Given the description of an element on the screen output the (x, y) to click on. 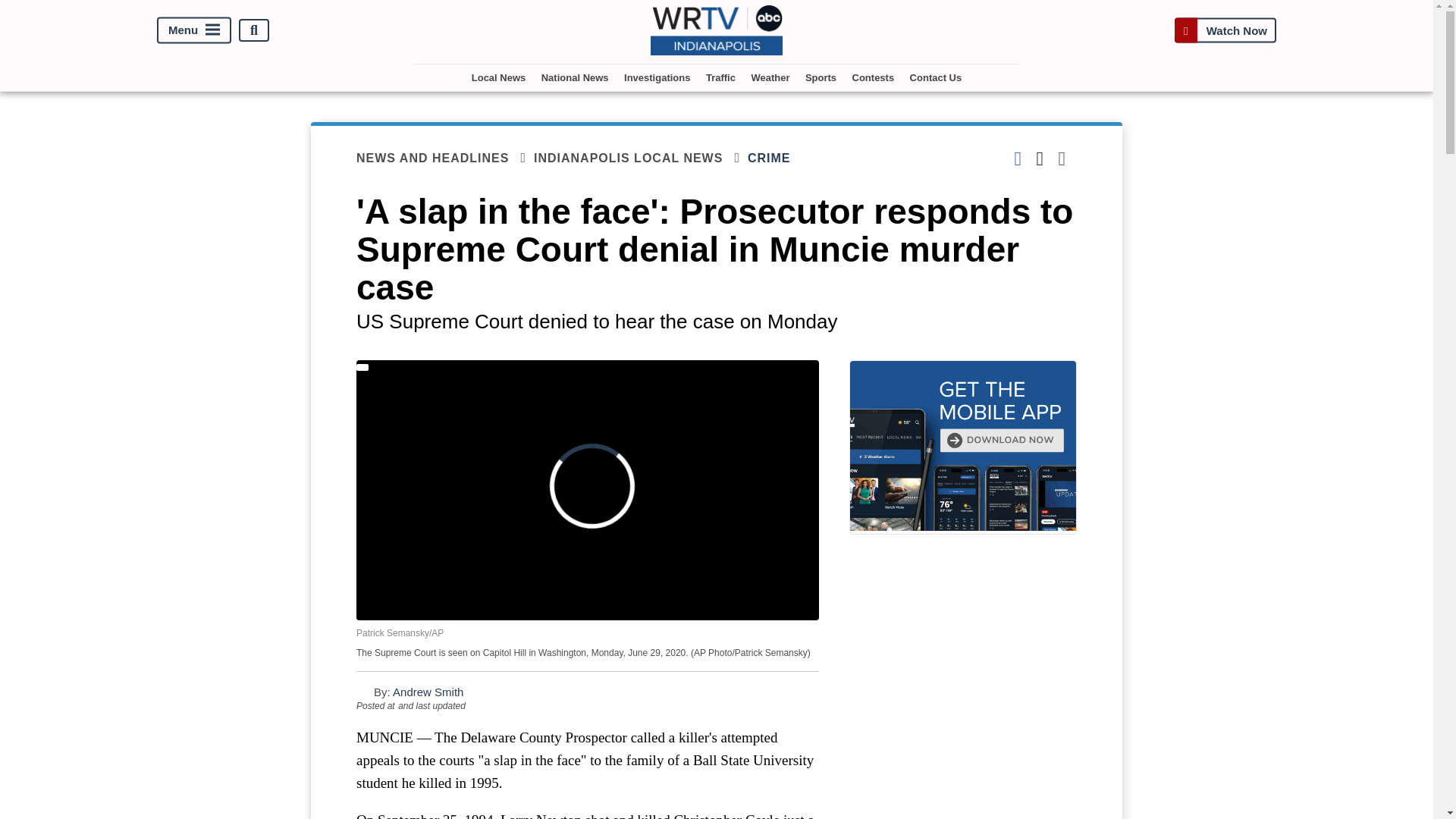
Watch Now (1224, 30)
Menu (194, 30)
